Given the description of an element on the screen output the (x, y) to click on. 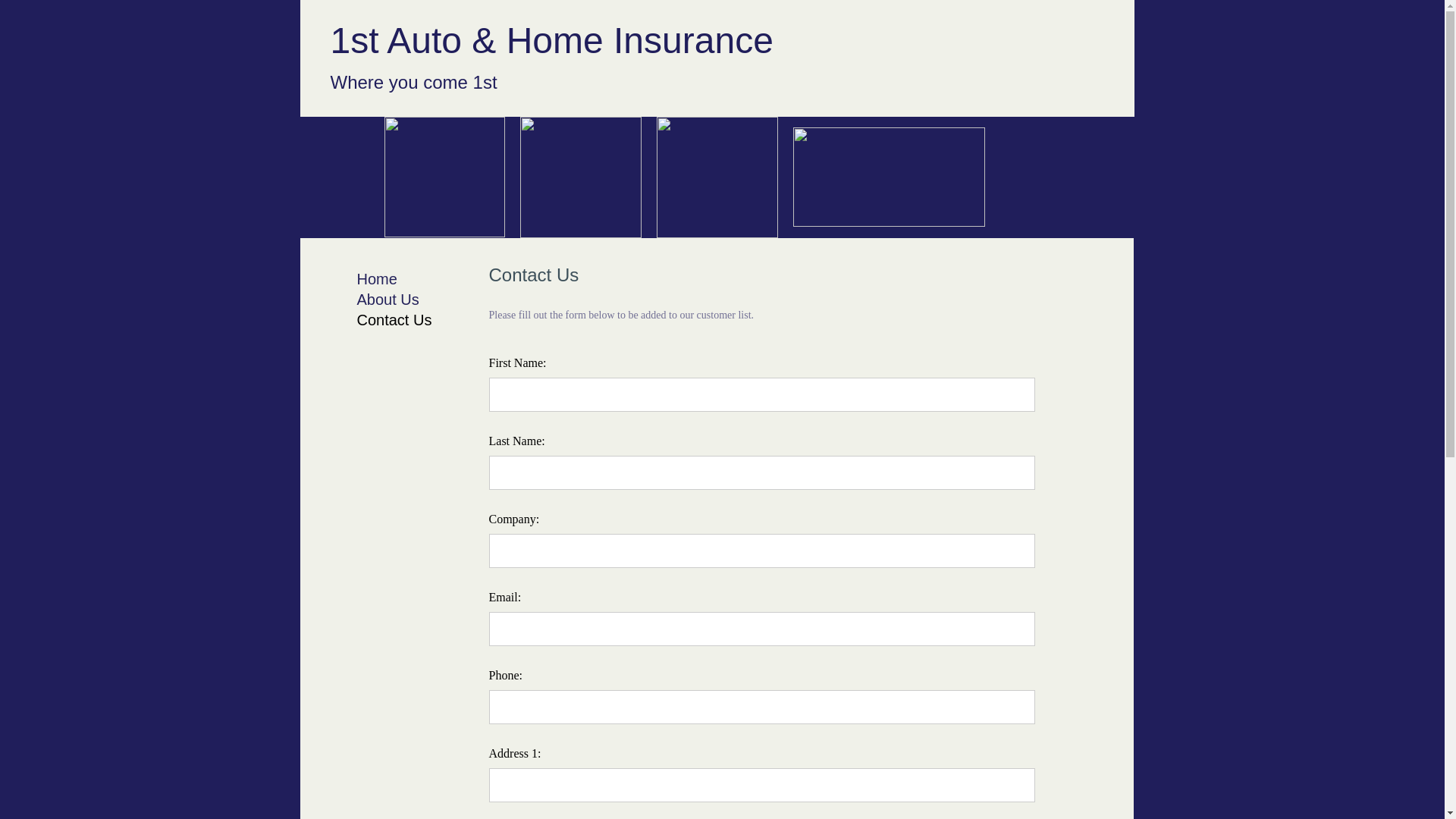
Home Element type: text (376, 278)
Contact Us Element type: text (393, 319)
About Us Element type: text (387, 299)
